Given the description of an element on the screen output the (x, y) to click on. 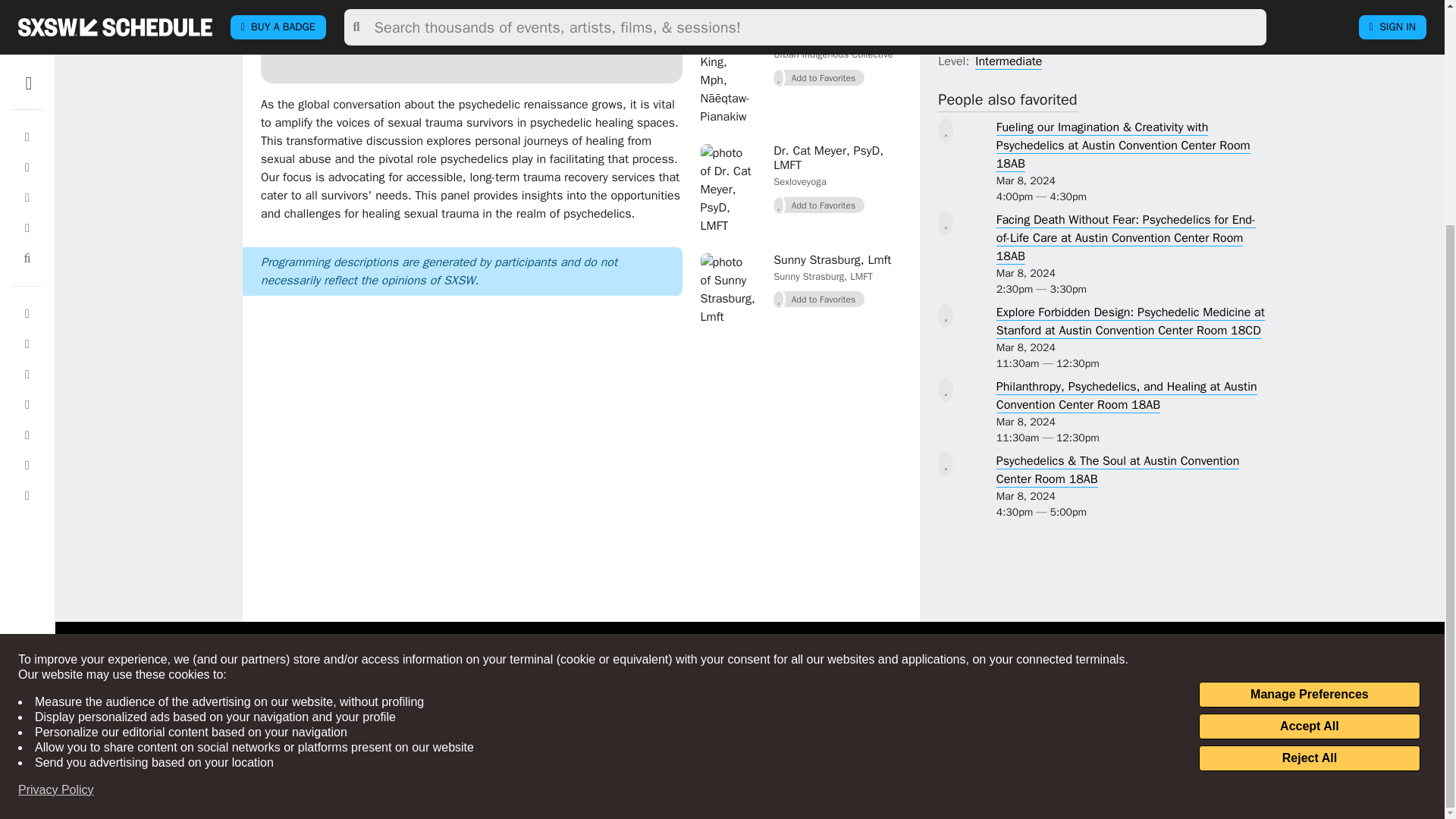
Sign In to add to your favorites. (818, 77)
Sign In to add to your favorites. (818, 205)
Sign In to add to your favorites. (818, 299)
Accept All (1309, 425)
Privacy Policy (55, 489)
Manage Preferences (1309, 394)
Reject All (1309, 457)
